Given the description of an element on the screen output the (x, y) to click on. 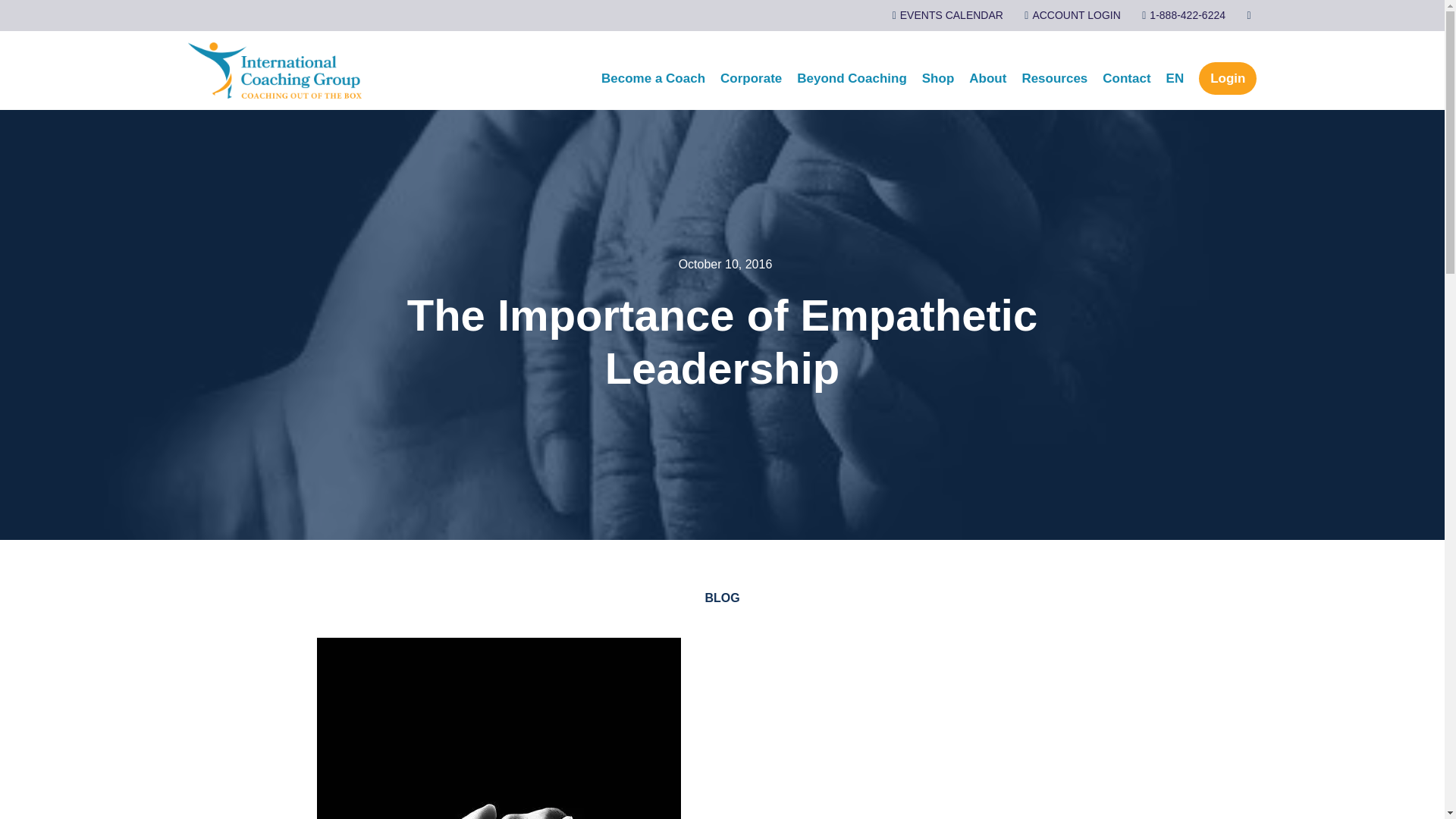
Shop (938, 78)
Resources (1053, 78)
EN (1175, 78)
1-888-422-6224 (1178, 15)
EVENTS CALENDAR (942, 15)
English (1175, 78)
About (986, 78)
Beyond Coaching (851, 78)
Contact (1125, 78)
Login (1227, 78)
